Given the description of an element on the screen output the (x, y) to click on. 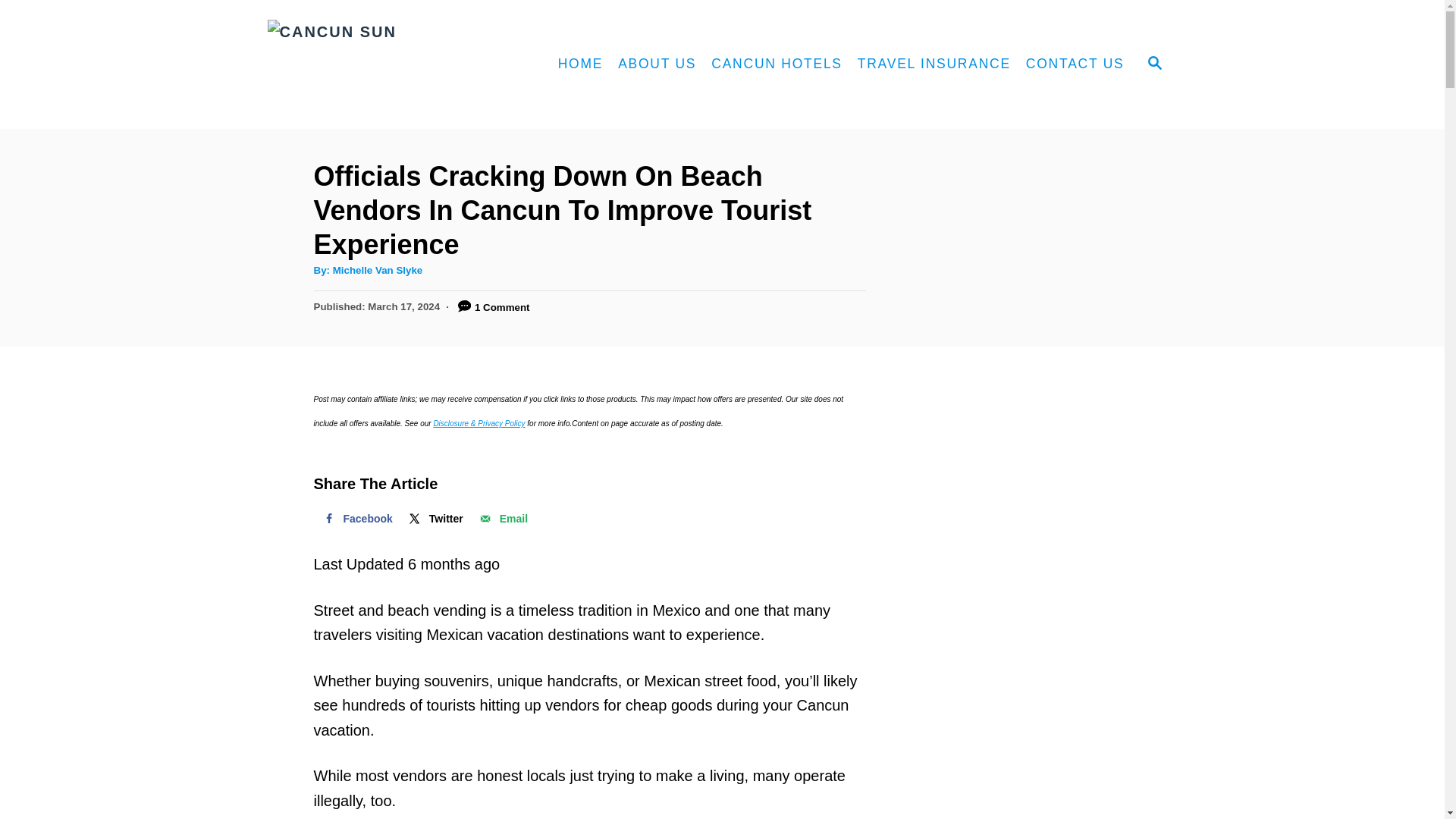
CANCUN HOTELS (776, 64)
ABOUT US (656, 64)
Facebook (356, 518)
Michelle Van Slyke (378, 270)
Share on X (434, 518)
HOME (580, 64)
SEARCH (1153, 63)
Share on Facebook (356, 518)
CONTACT US (1074, 64)
Cancun Sun (394, 64)
